Given the description of an element on the screen output the (x, y) to click on. 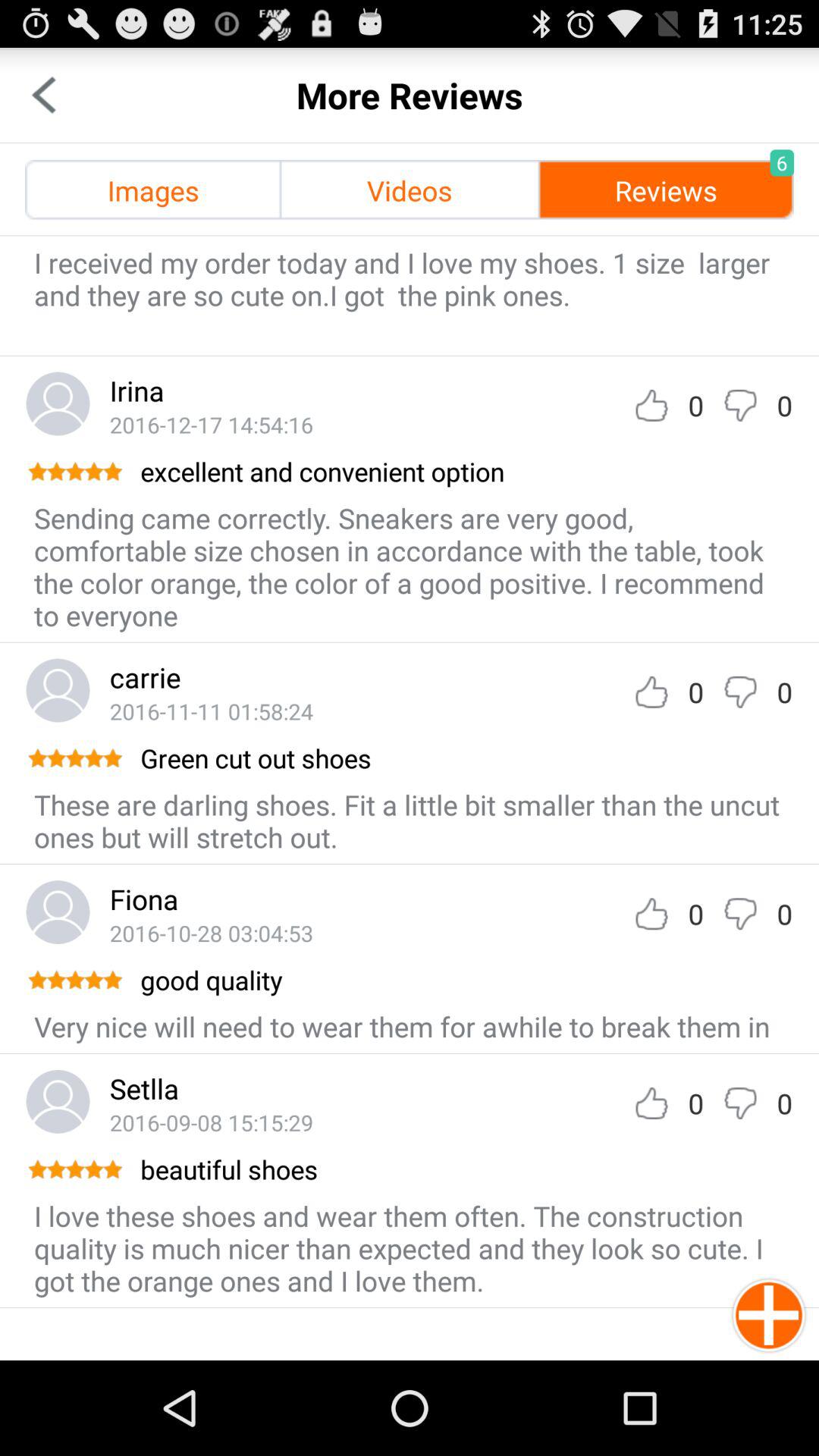
select images icon (153, 189)
